Given the description of an element on the screen output the (x, y) to click on. 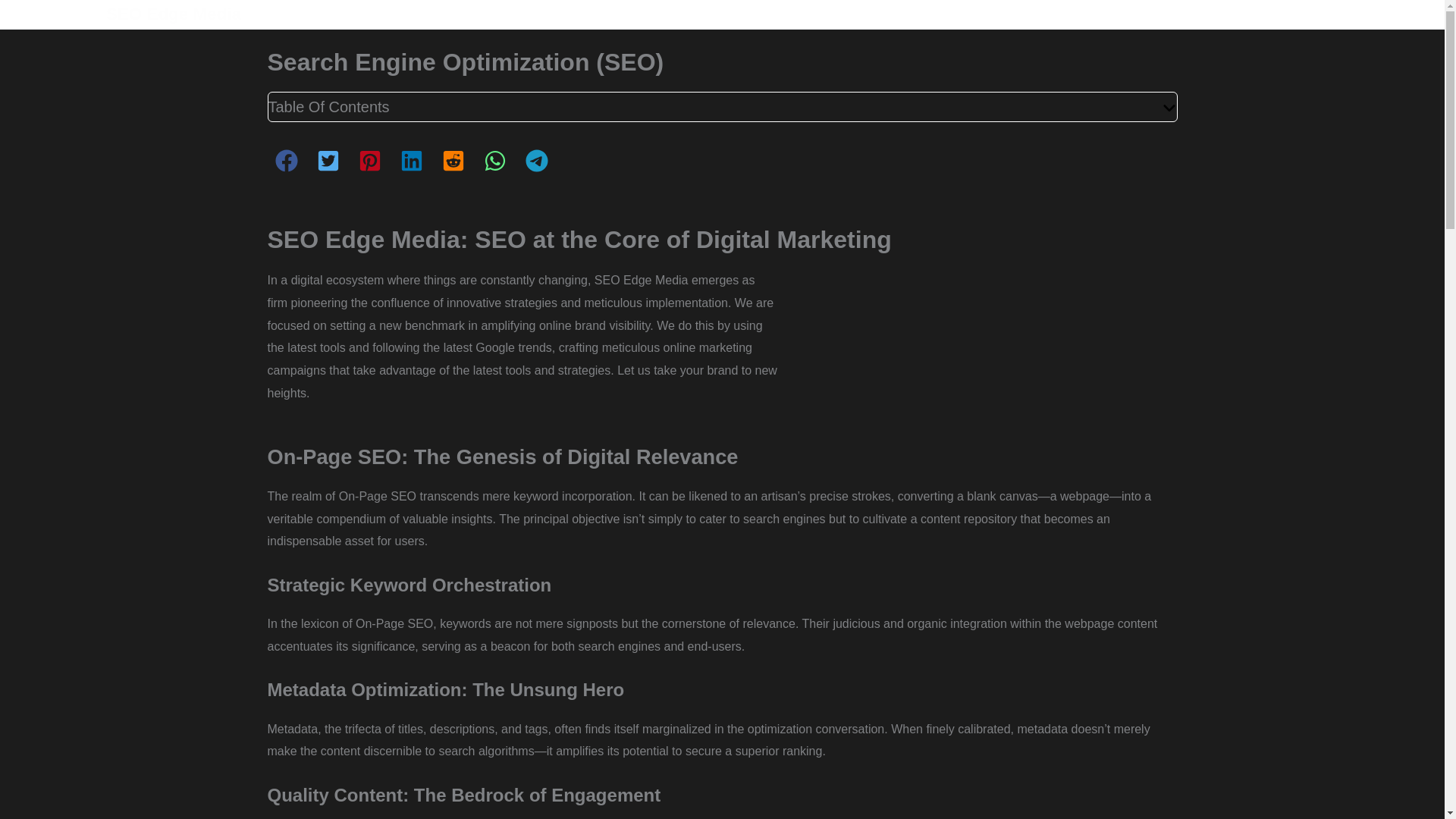
SEO Edge Media (173, 13)
Our Team (1306, 13)
Blog (1244, 13)
SEO Packages (1166, 13)
Contact Us (1387, 13)
Services (1069, 13)
